Given the description of an element on the screen output the (x, y) to click on. 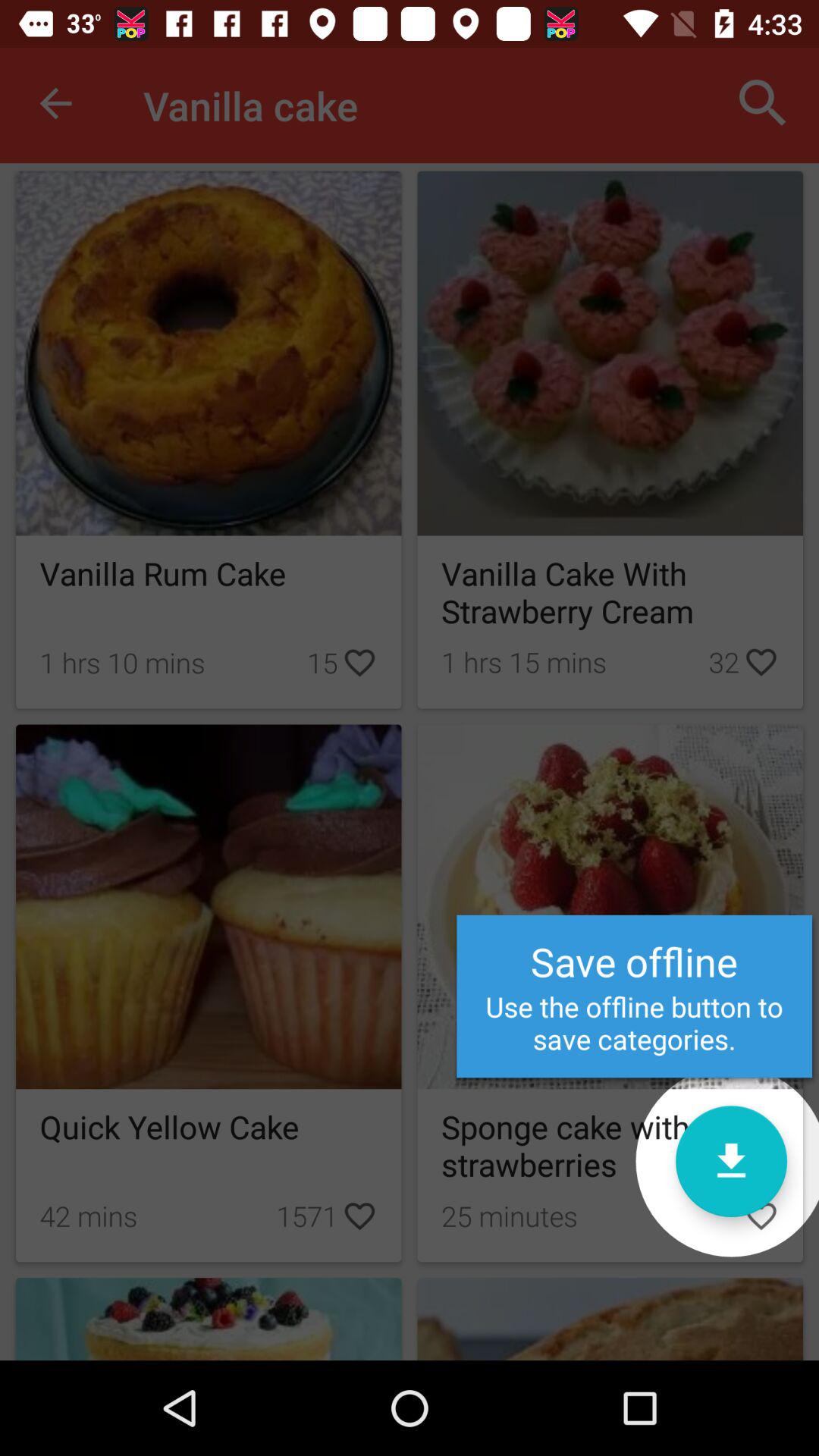
tap the item to the right of the quick yellow cake (731, 1161)
